Given the description of an element on the screen output the (x, y) to click on. 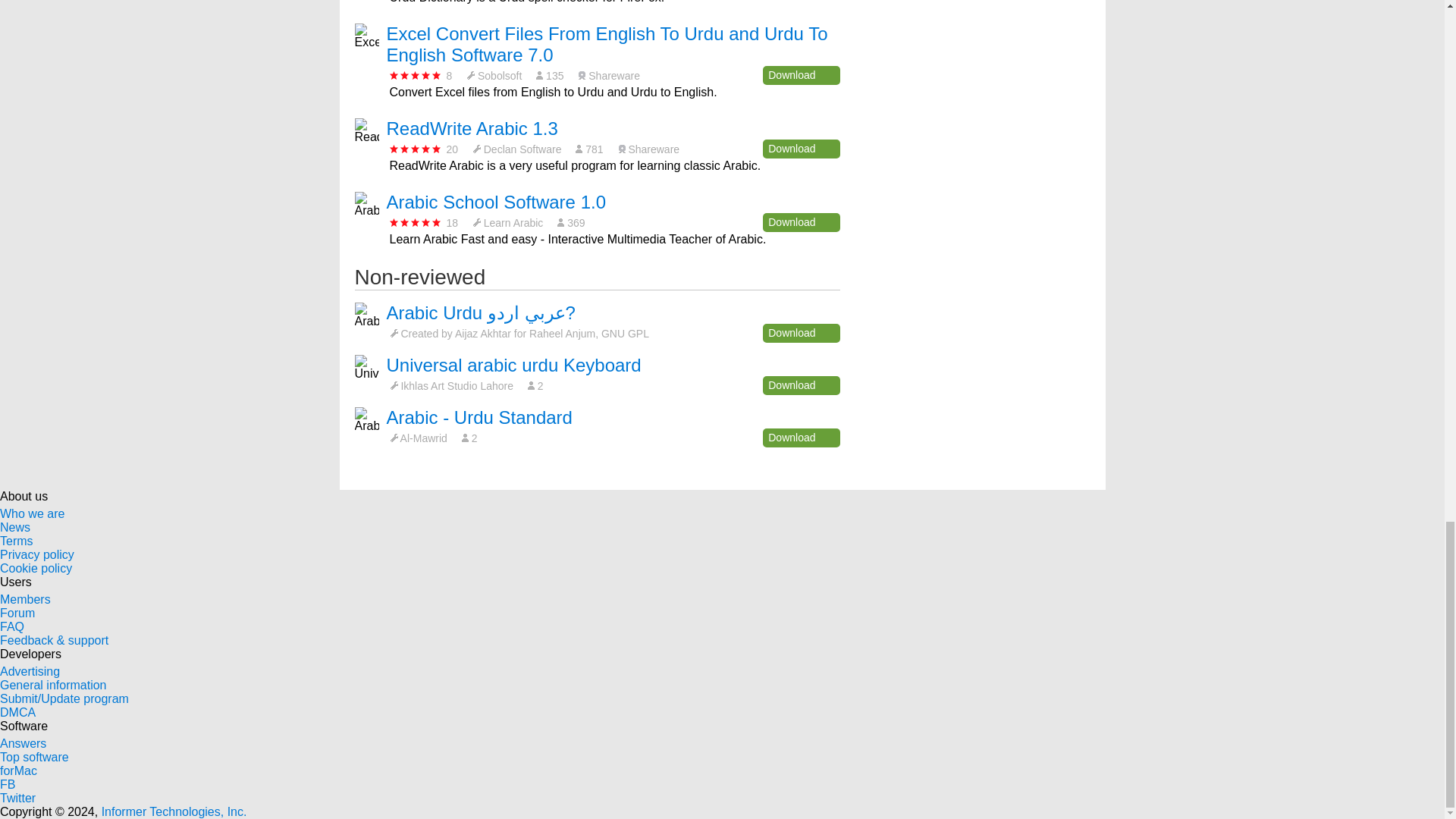
Download (801, 75)
